Given the description of an element on the screen output the (x, y) to click on. 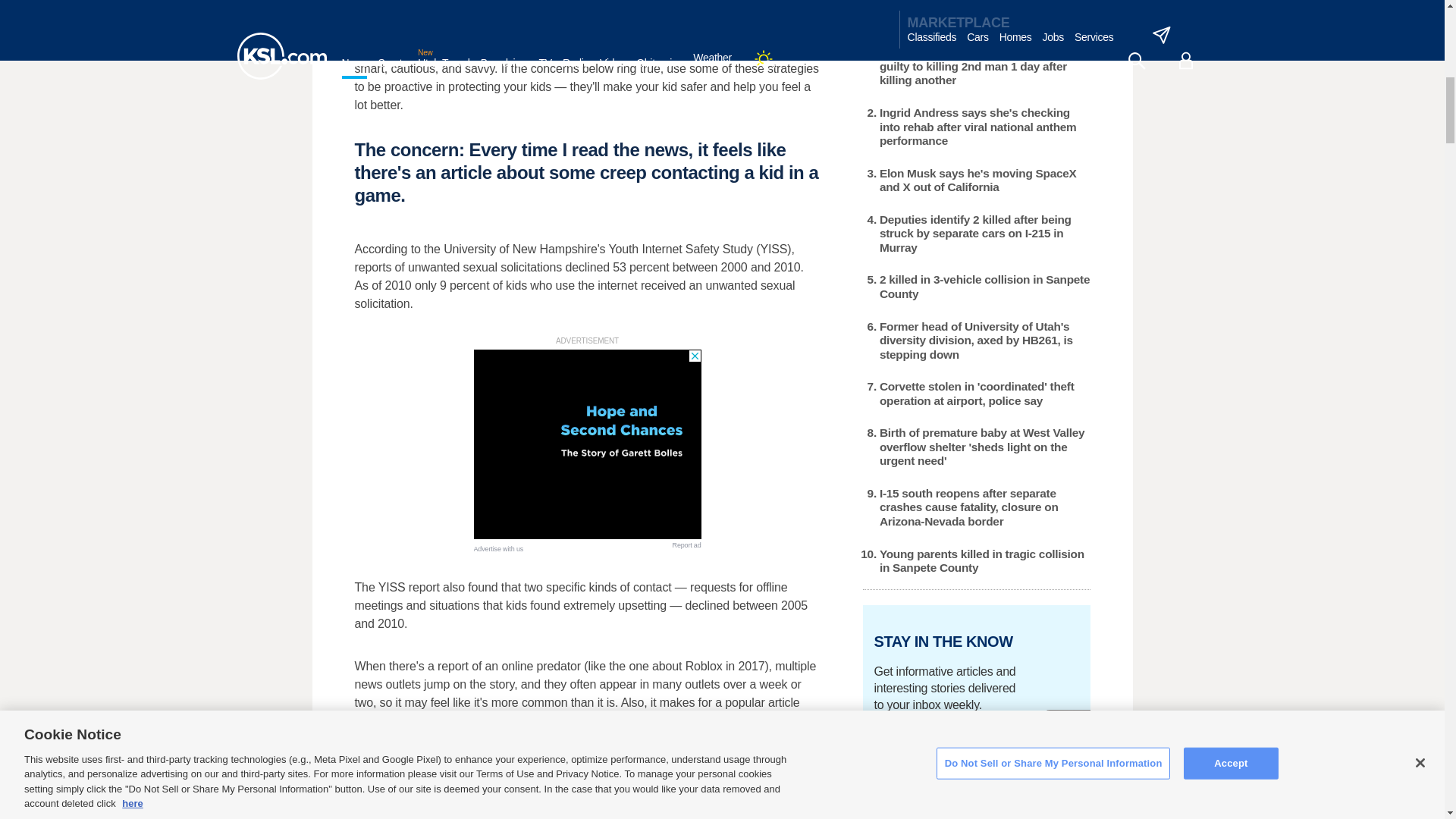
3rd party ad content (586, 443)
